Given the description of an element on the screen output the (x, y) to click on. 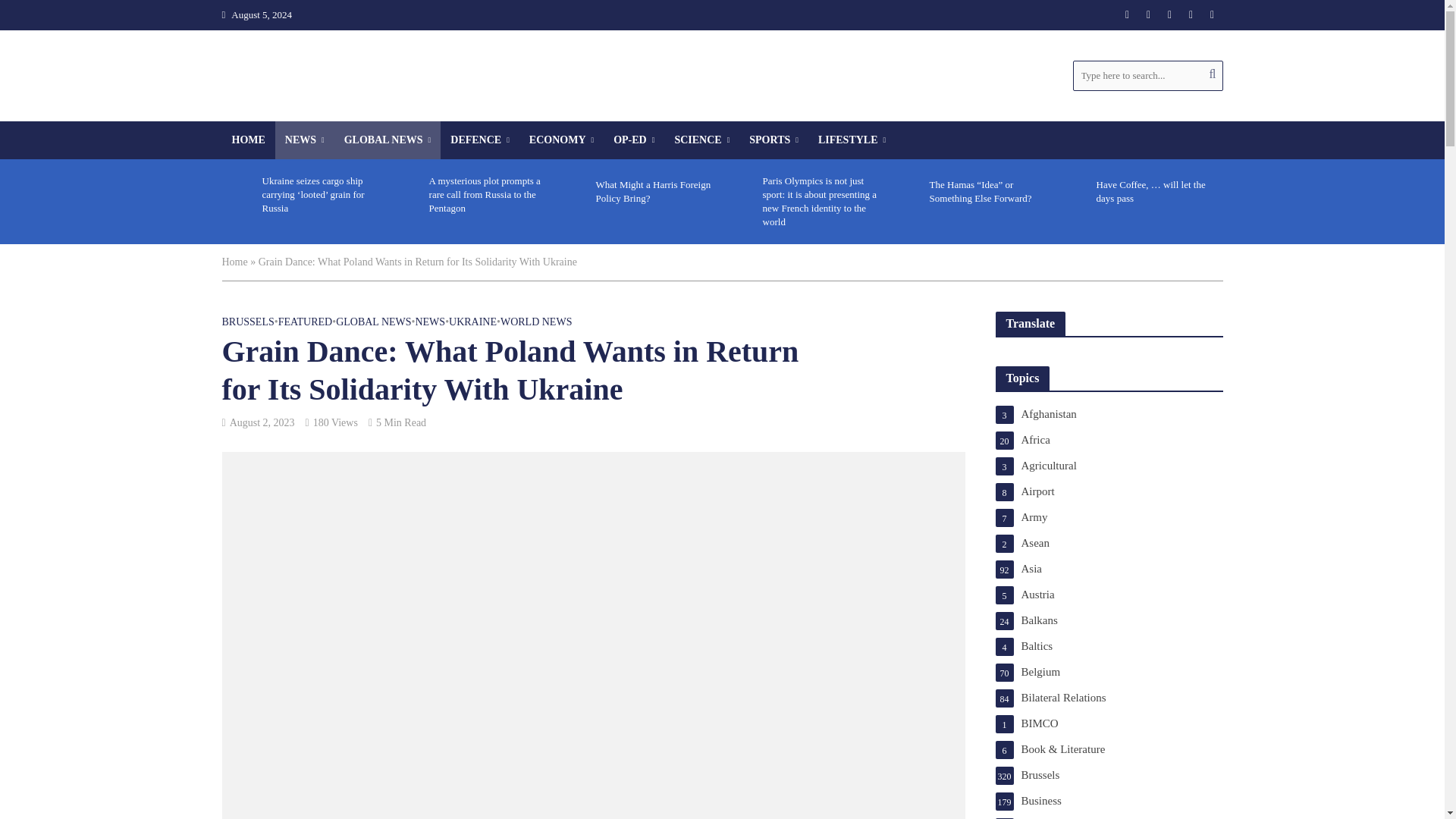
GLOBAL NEWS (387, 139)
NEWS (304, 139)
HOME (248, 139)
